Given the description of an element on the screen output the (x, y) to click on. 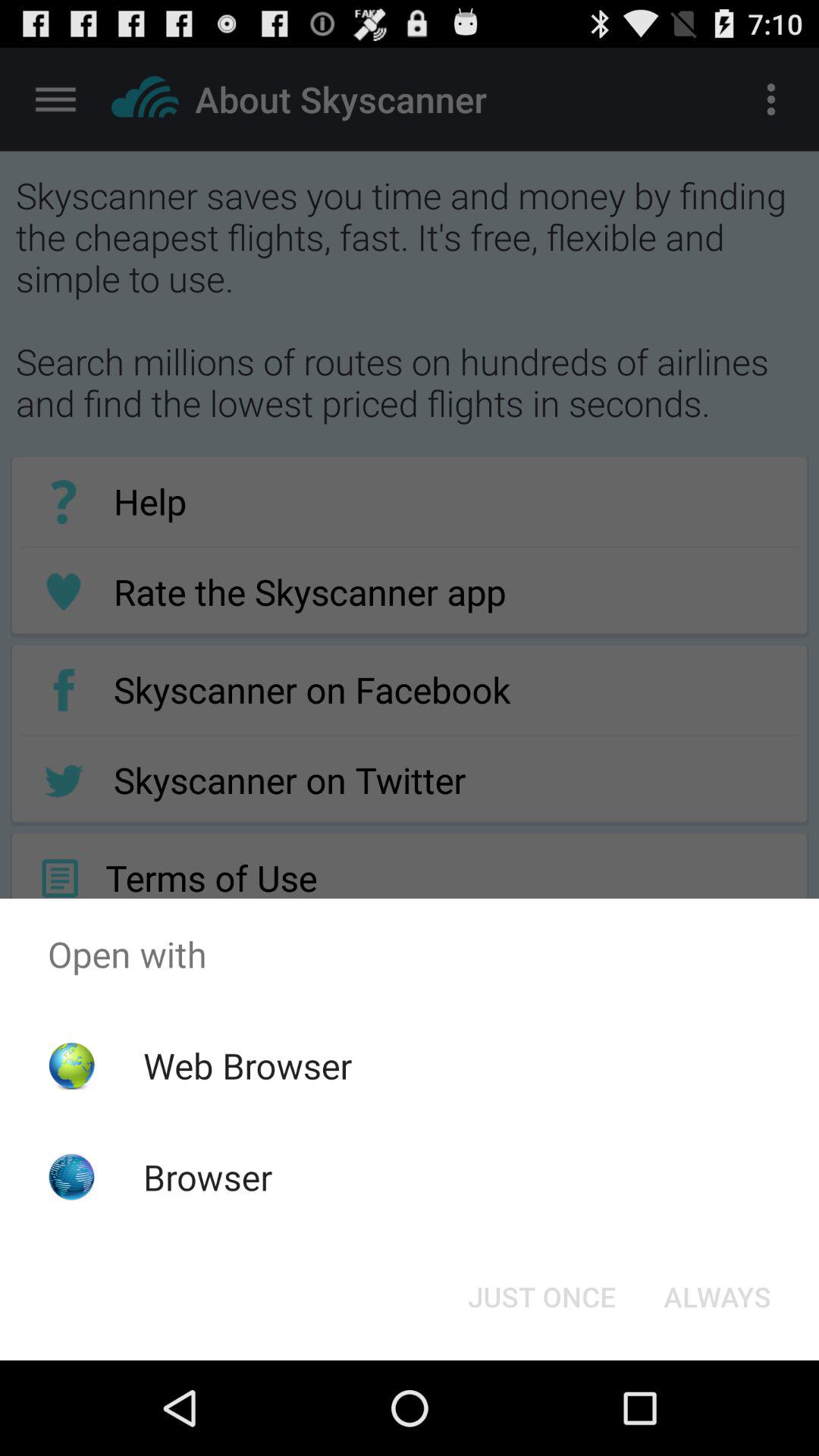
turn on always at the bottom right corner (717, 1296)
